Given the description of an element on the screen output the (x, y) to click on. 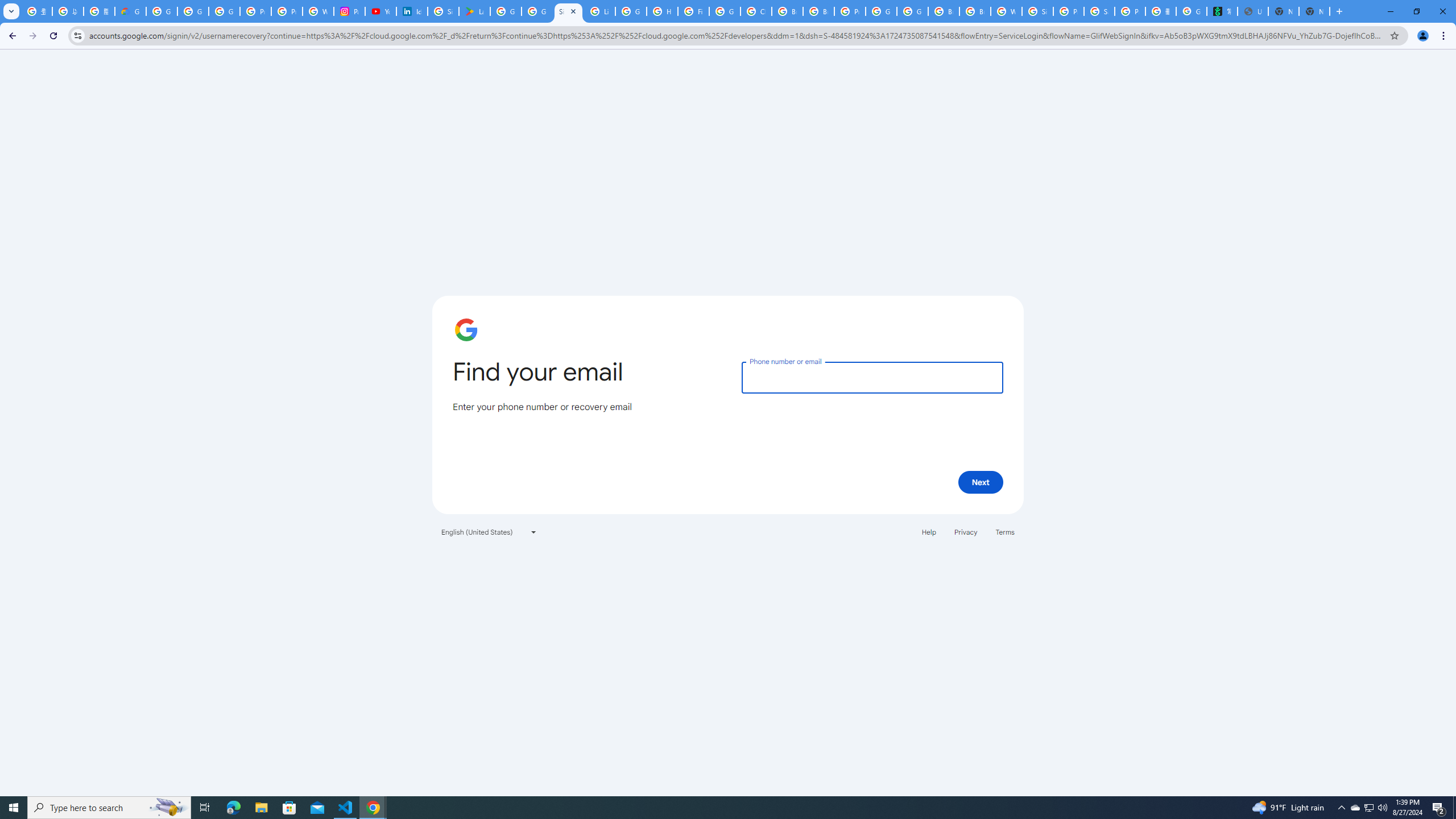
Google Workspace - Specific Terms (536, 11)
Browse Chrome as a guest - Computer - Google Chrome Help (787, 11)
